Given the description of an element on the screen output the (x, y) to click on. 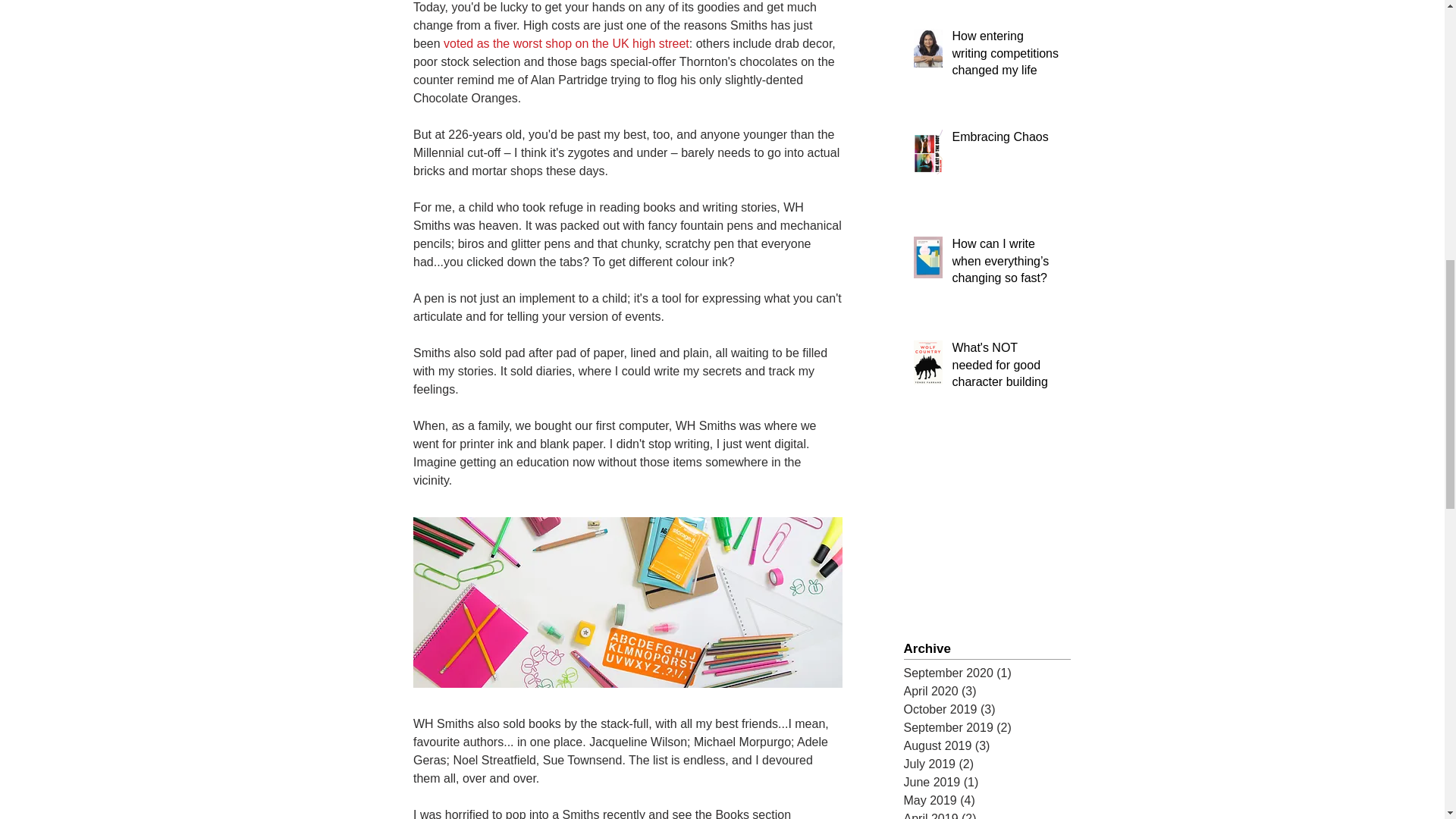
voted as the worst shop on the UK high street (566, 42)
What's NOT needed for good character building (1006, 367)
How entering writing competitions changed my life (1006, 56)
Embracing Chaos (1006, 139)
